Given the description of an element on the screen output the (x, y) to click on. 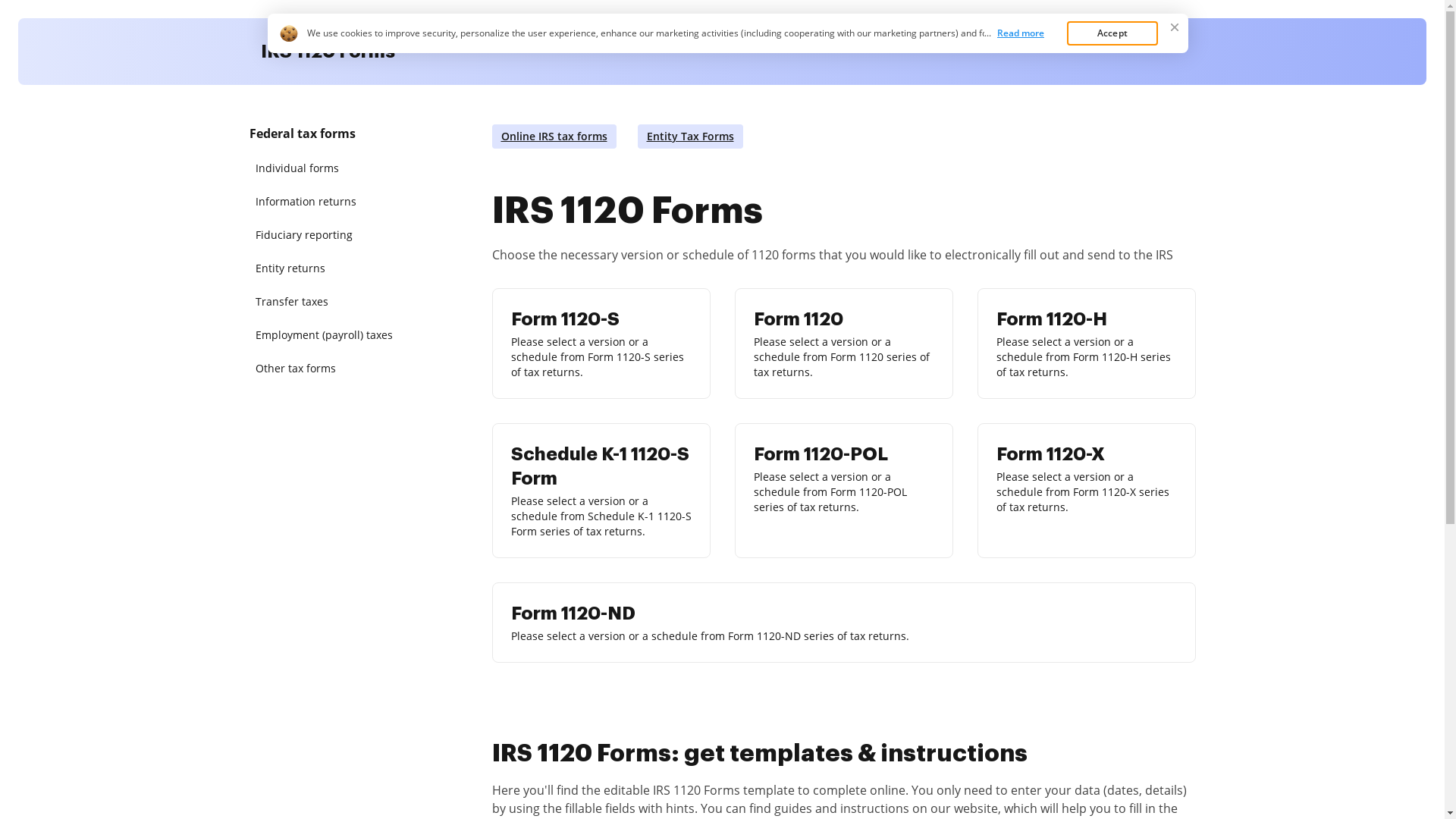
Other tax forms Element type: text (327, 368)
Online IRS tax forms Element type: text (553, 136)
Fiduciary reporting Element type: text (327, 234)
Entity returns Element type: text (327, 268)
Individual forms Element type: text (327, 168)
Entity Tax Forms Element type: text (689, 136)
Information returns Element type: text (327, 201)
Accept Element type: text (1111, 33)
Transfer taxes Element type: text (327, 301)
Employment (payroll) taxes Element type: text (327, 334)
